Given the description of an element on the screen output the (x, y) to click on. 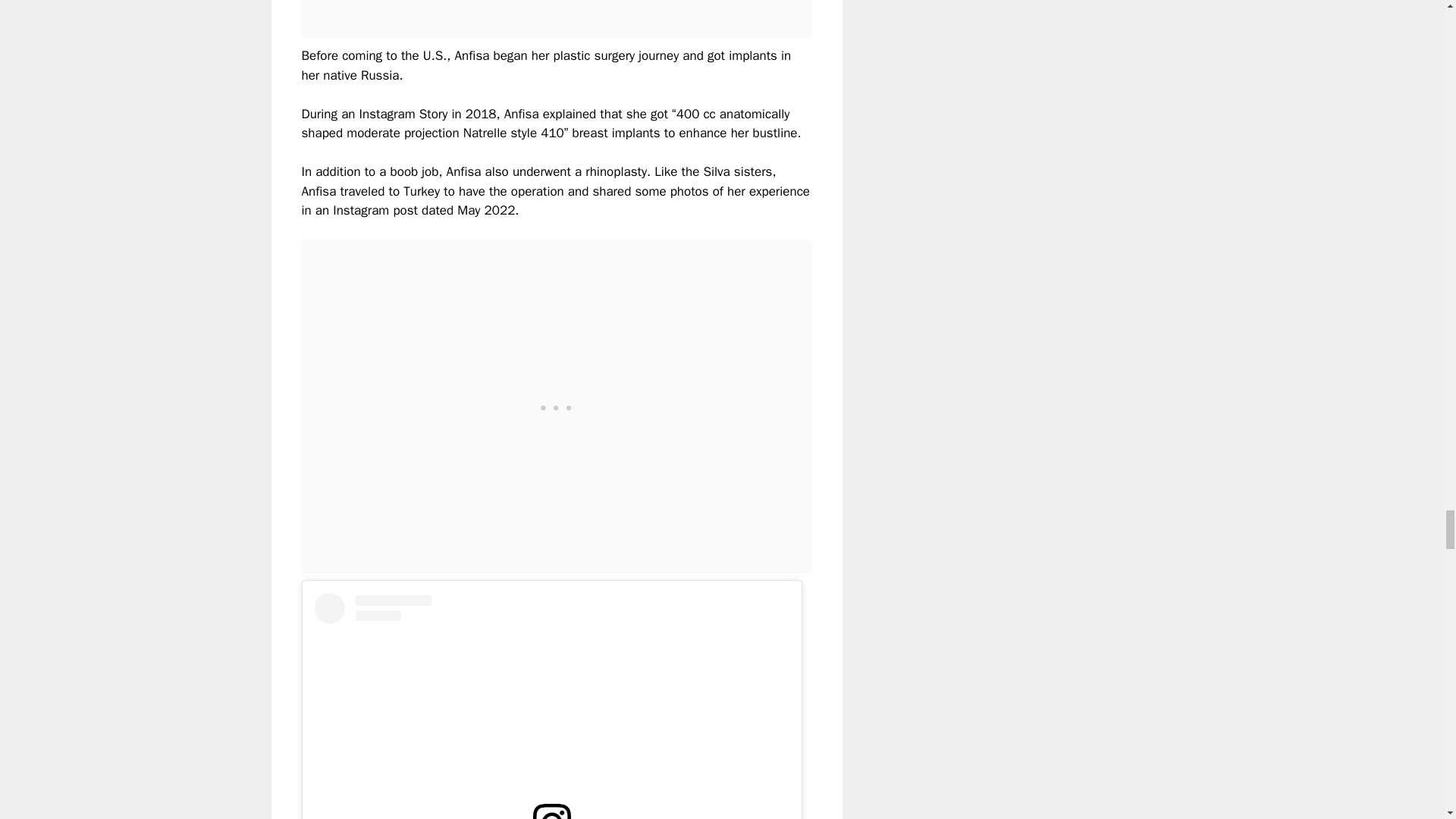
View this post on Instagram (551, 705)
